Given the description of an element on the screen output the (x, y) to click on. 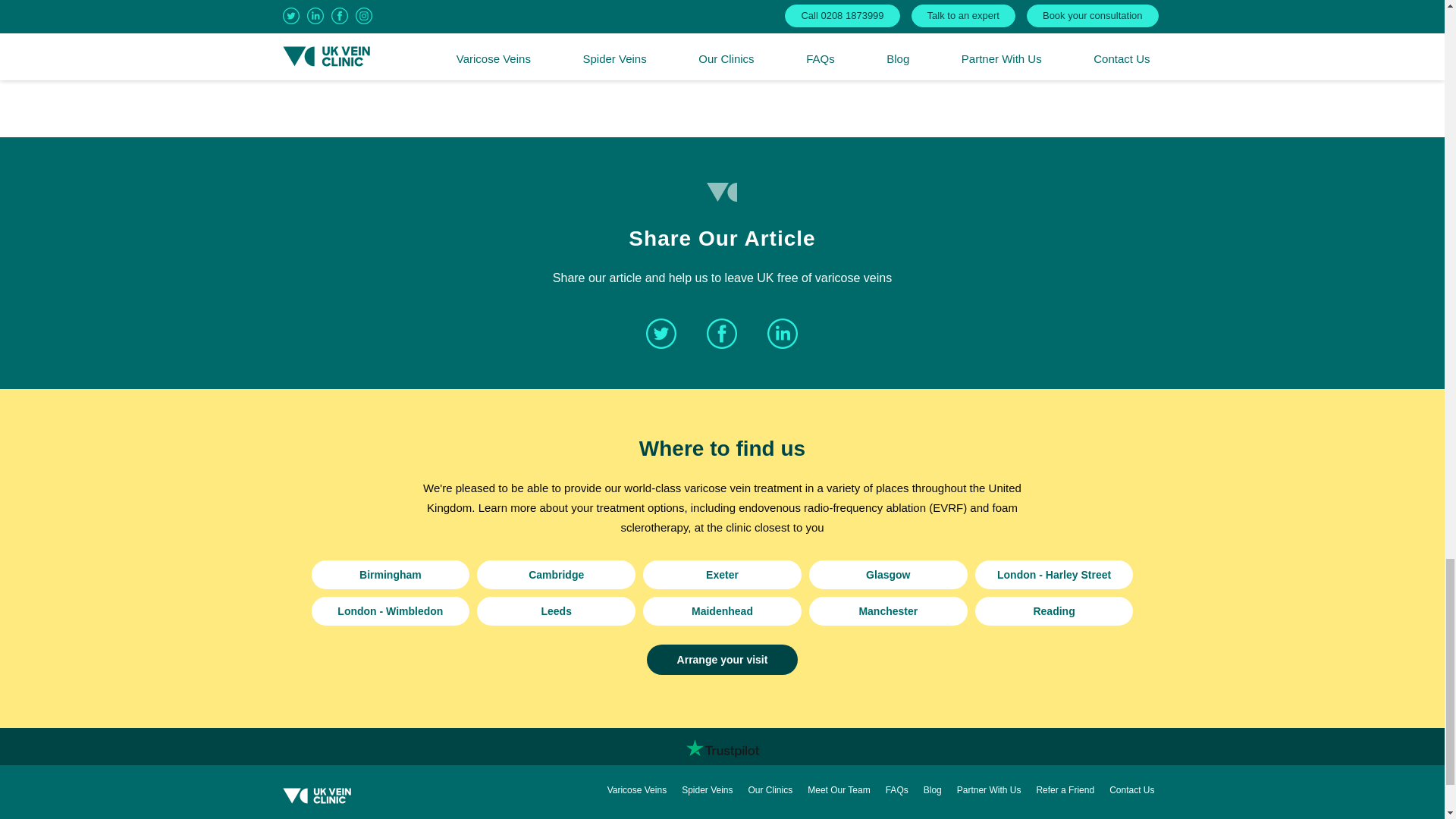
Customer reviews powered by Trustpilot (721, 748)
